Given the description of an element on the screen output the (x, y) to click on. 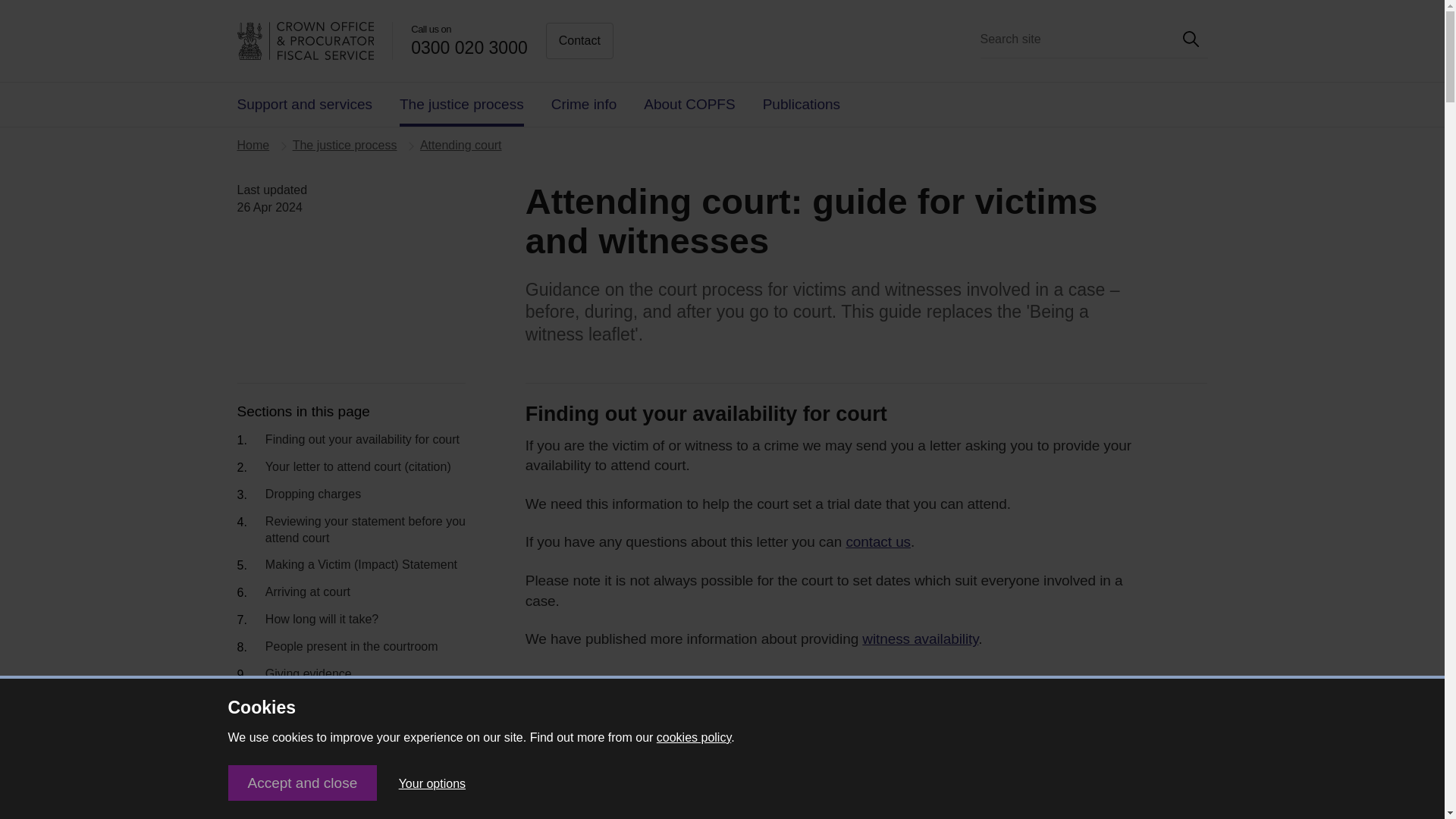
Victim Notification Scheme (344, 783)
Contact (579, 40)
Giving evidence (308, 674)
Dropping charges (312, 495)
contact us (878, 541)
Your options (431, 783)
The justice process (344, 144)
About COPFS (689, 104)
Arriving at court (307, 592)
Logo of the Crown Office and Procurator Fiscal Service (314, 40)
Reviewing your statement before you attend court (364, 530)
Support at court (315, 701)
Support and services (303, 104)
Finding out your availability for court (362, 440)
cookies policy (693, 737)
